Given the description of an element on the screen output the (x, y) to click on. 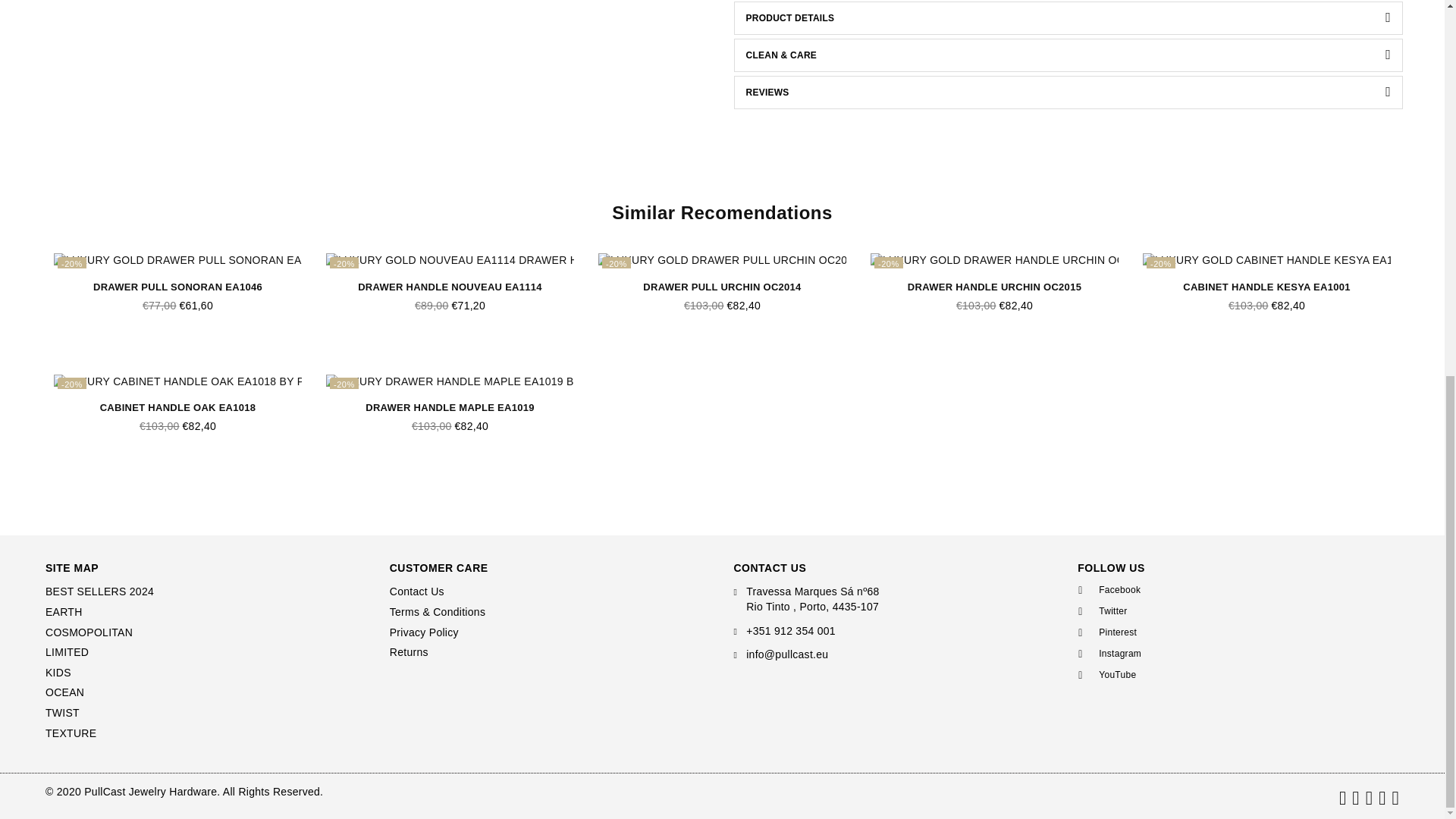
PullCast Shop on Pinterest (1233, 632)
PullCast Shop on Instagram (1233, 654)
PullCast Shop on YouTube (1233, 675)
PullCast Shop on Twitter (1233, 611)
PullCast Shop on Facebook (1233, 590)
